Given the description of an element on the screen output the (x, y) to click on. 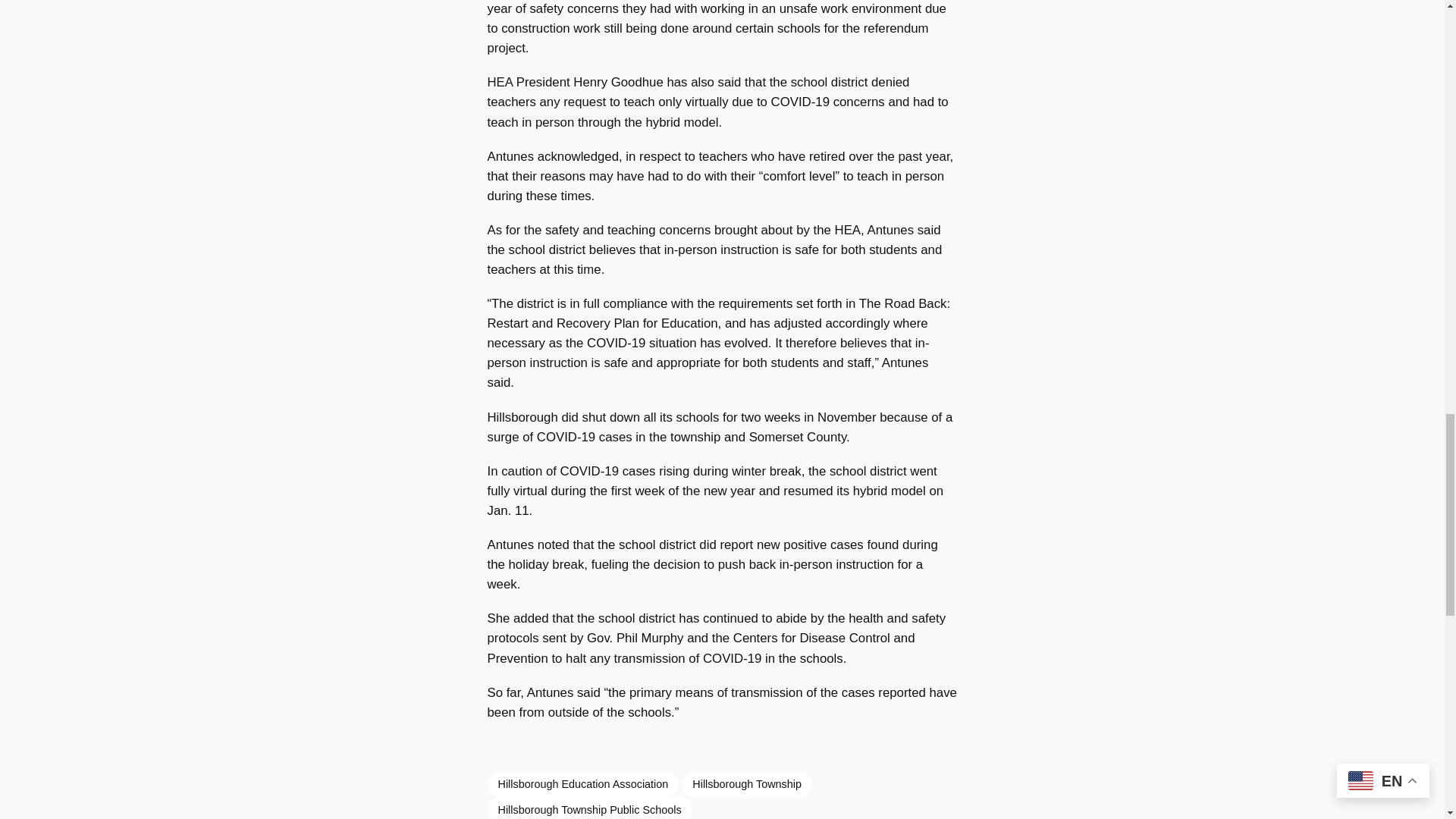
Hillsborough Township (746, 783)
Hillsborough Township Public Schools (588, 807)
Hillsborough Education Association (582, 783)
